Given the description of an element on the screen output the (x, y) to click on. 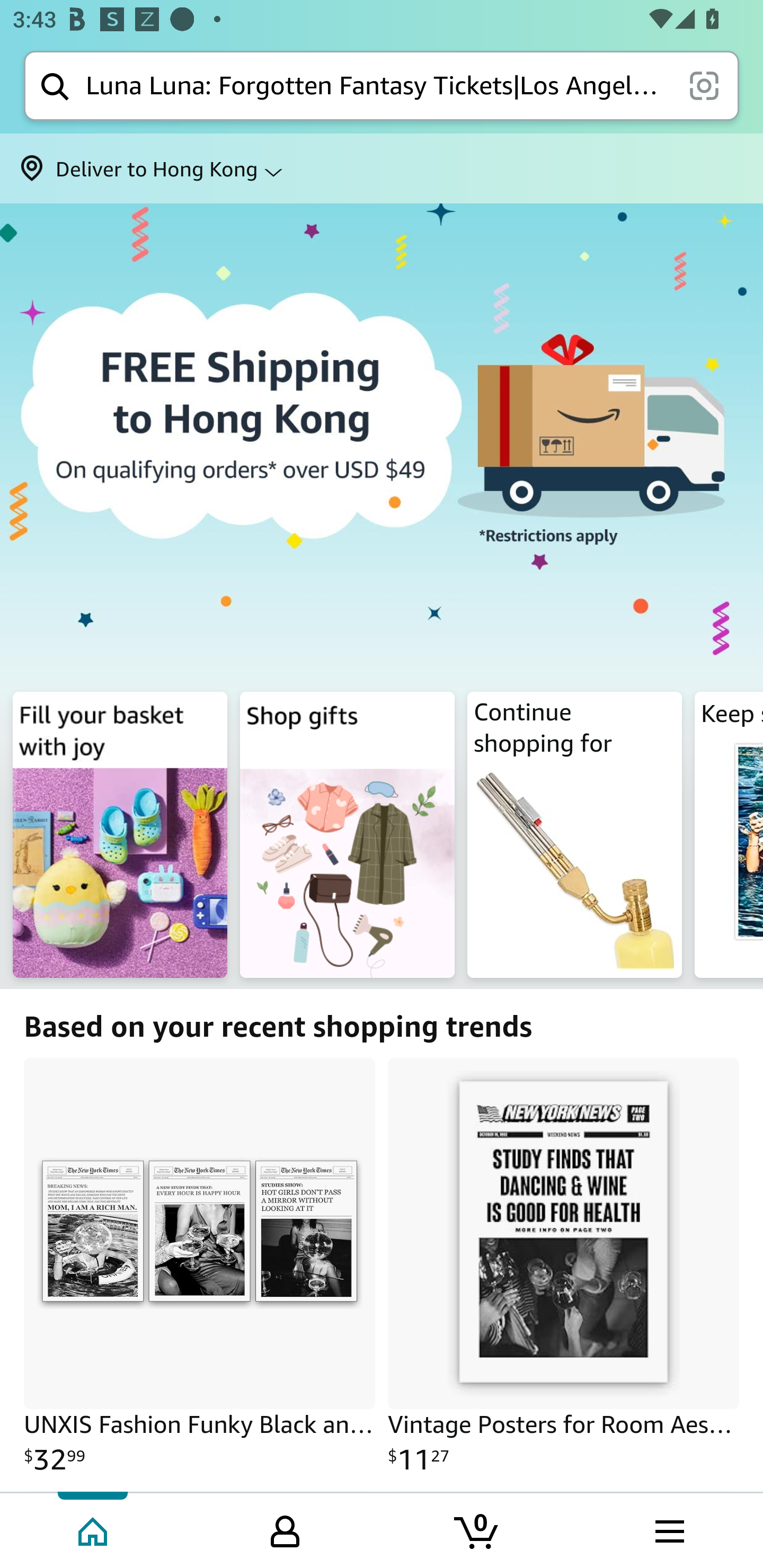
scan it (704, 85)
Deliver to Hong Kong ⌵ (381, 168)
Free shipping to Hong Kong (381, 444)
Home Tab 1 of 4 (94, 1529)
Your Amazon.com Tab 2 of 4 (285, 1529)
Cart 0 item Tab 3 of 4 0 (477, 1529)
Browse menu Tab 4 of 4 (668, 1529)
